Given the description of an element on the screen output the (x, y) to click on. 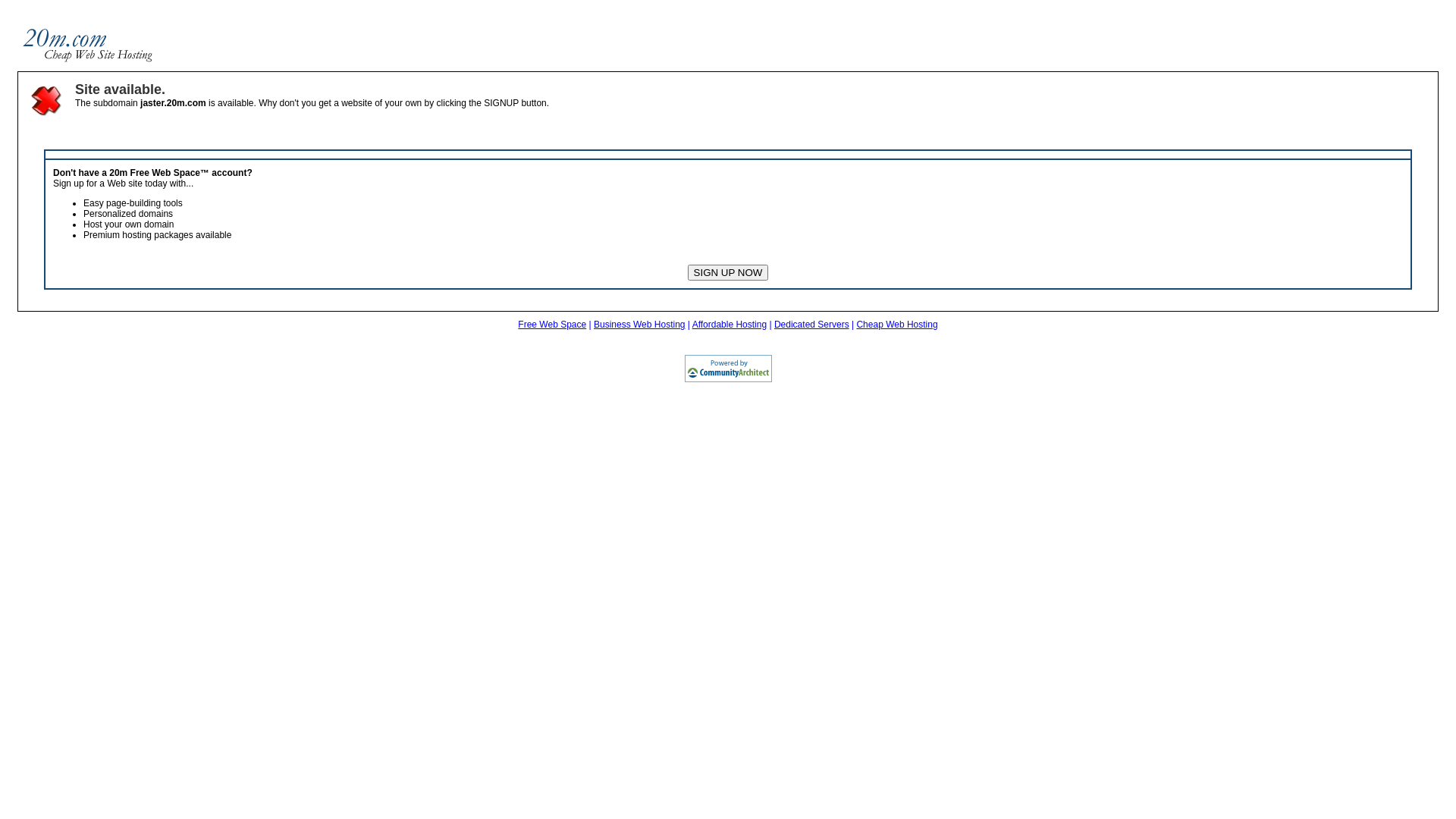
Affordable Hosting Element type: text (729, 324)
Free Web Space Element type: text (551, 324)
Business Web Hosting Element type: text (639, 324)
Cheap Web Hosting Element type: text (896, 324)
Dedicated Servers Element type: text (811, 324)
SIGN UP NOW Element type: text (727, 272)
